Given the description of an element on the screen output the (x, y) to click on. 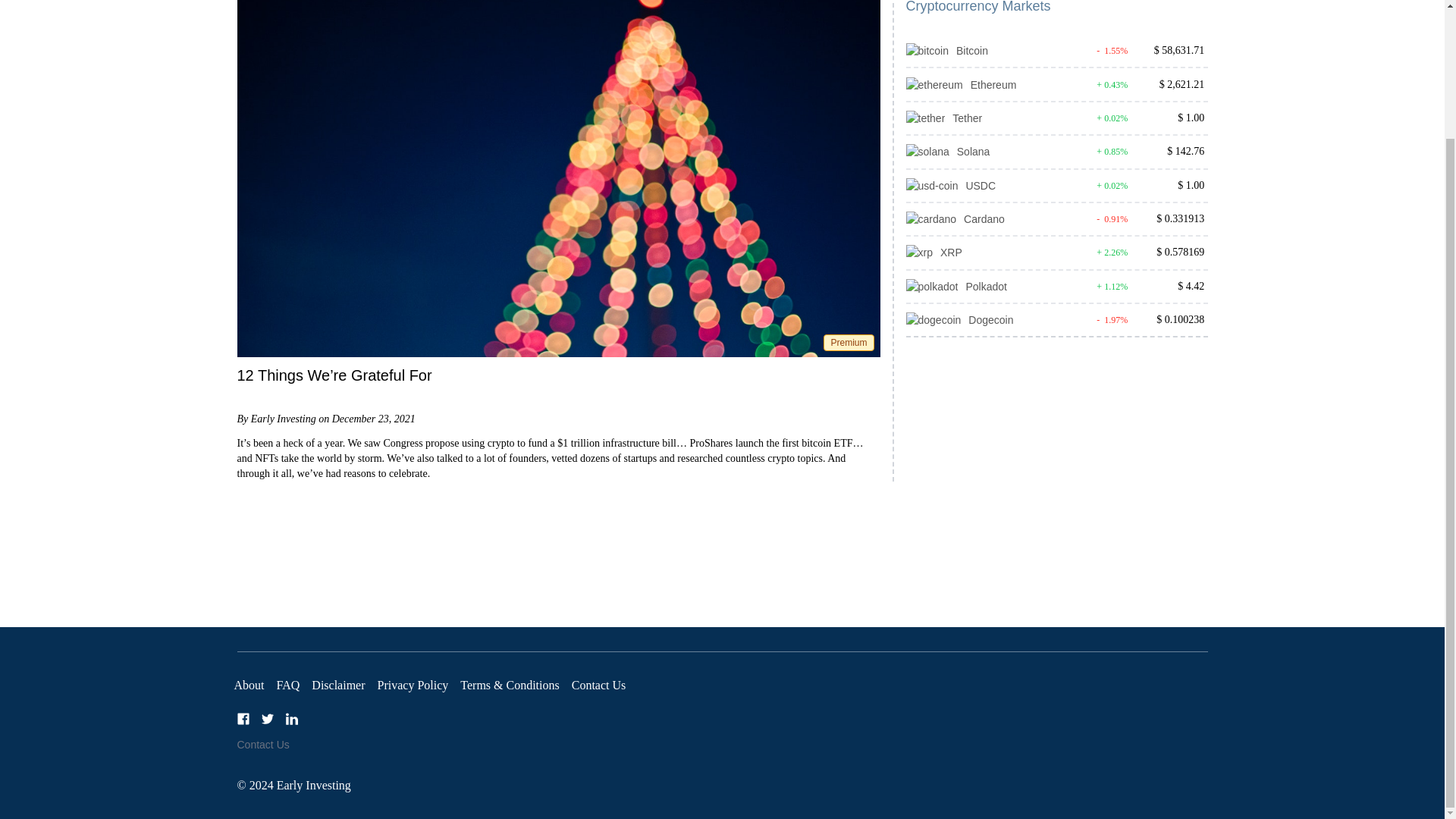
About (247, 684)
Disclaimer (338, 684)
FAQ (287, 684)
Privacy Policy (412, 684)
